Given the description of an element on the screen output the (x, y) to click on. 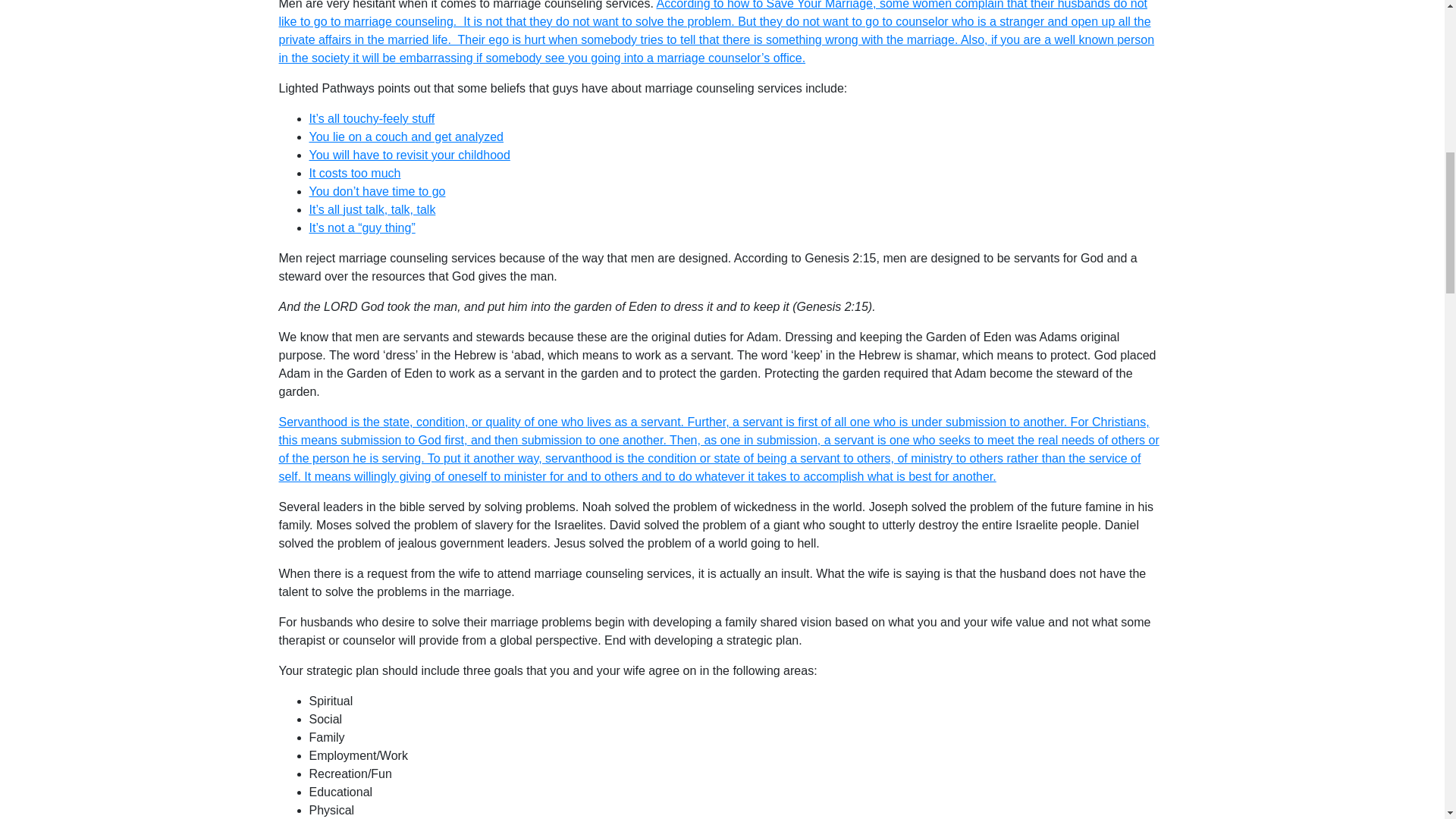
It costs too much (354, 173)
You will have to revisit your childhood (409, 154)
You lie on a couch and get analyzed (405, 136)
